Given the description of an element on the screen output the (x, y) to click on. 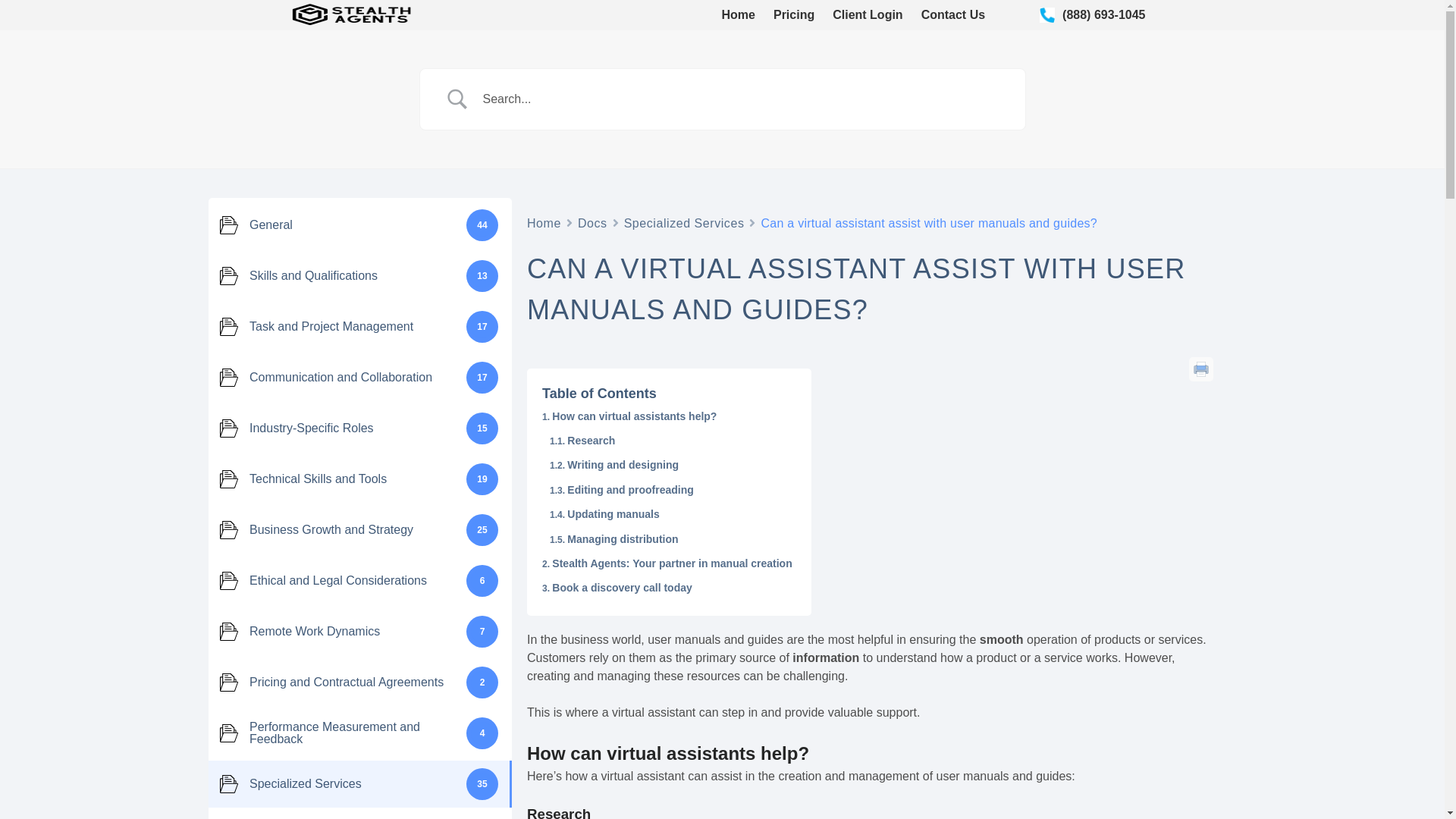
Stealth Agents (466, 24)
Docs (592, 222)
Specialized Services (684, 222)
Contact Us (953, 15)
Home (543, 222)
Client Login (867, 15)
Home (738, 15)
Pricing (793, 15)
